Given the description of an element on the screen output the (x, y) to click on. 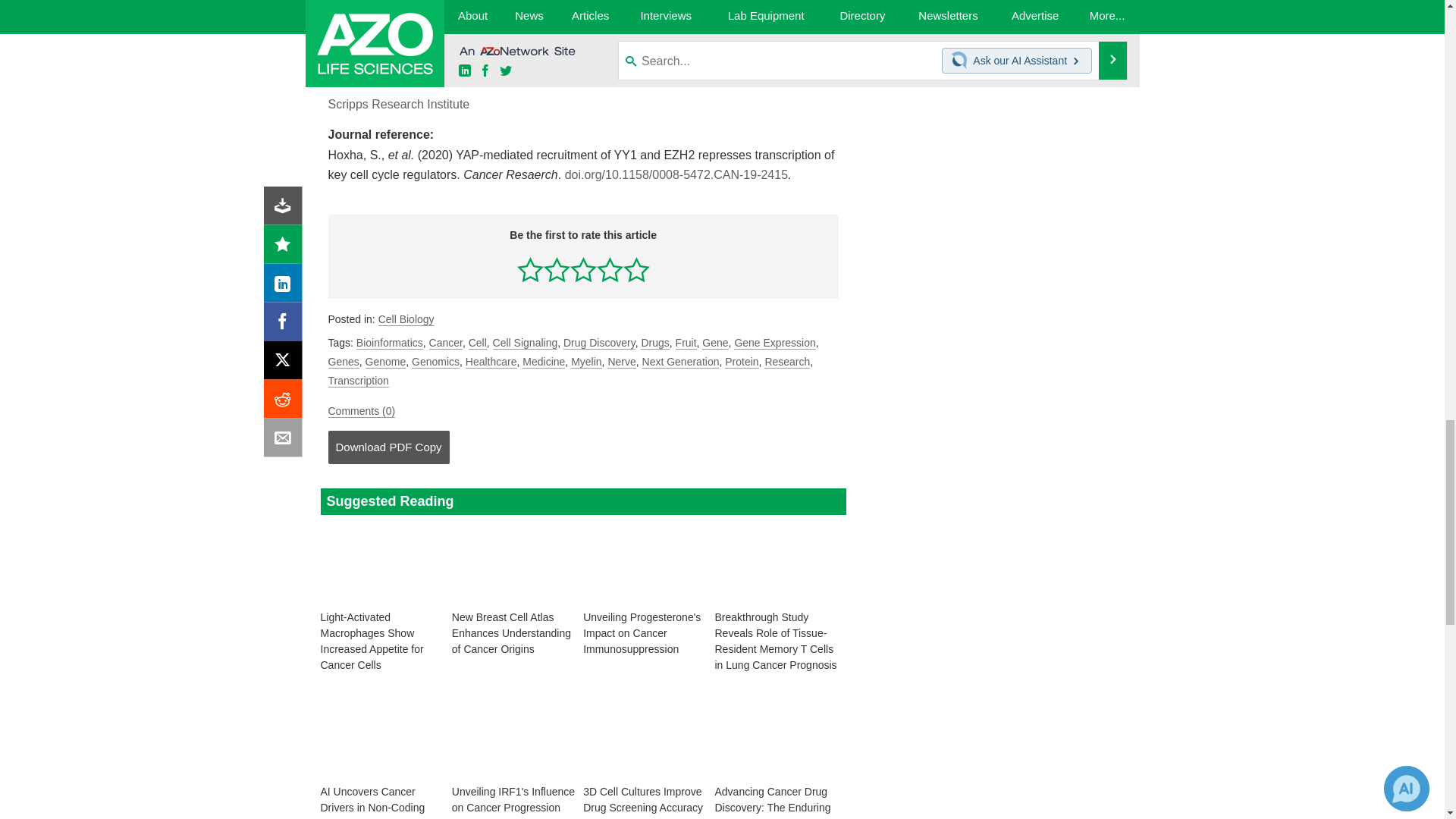
Rate this 5 stars out of 5 (636, 269)
Rate this 4 stars out of 5 (609, 269)
Rate this 3 stars out of 5 (583, 269)
